Given the description of an element on the screen output the (x, y) to click on. 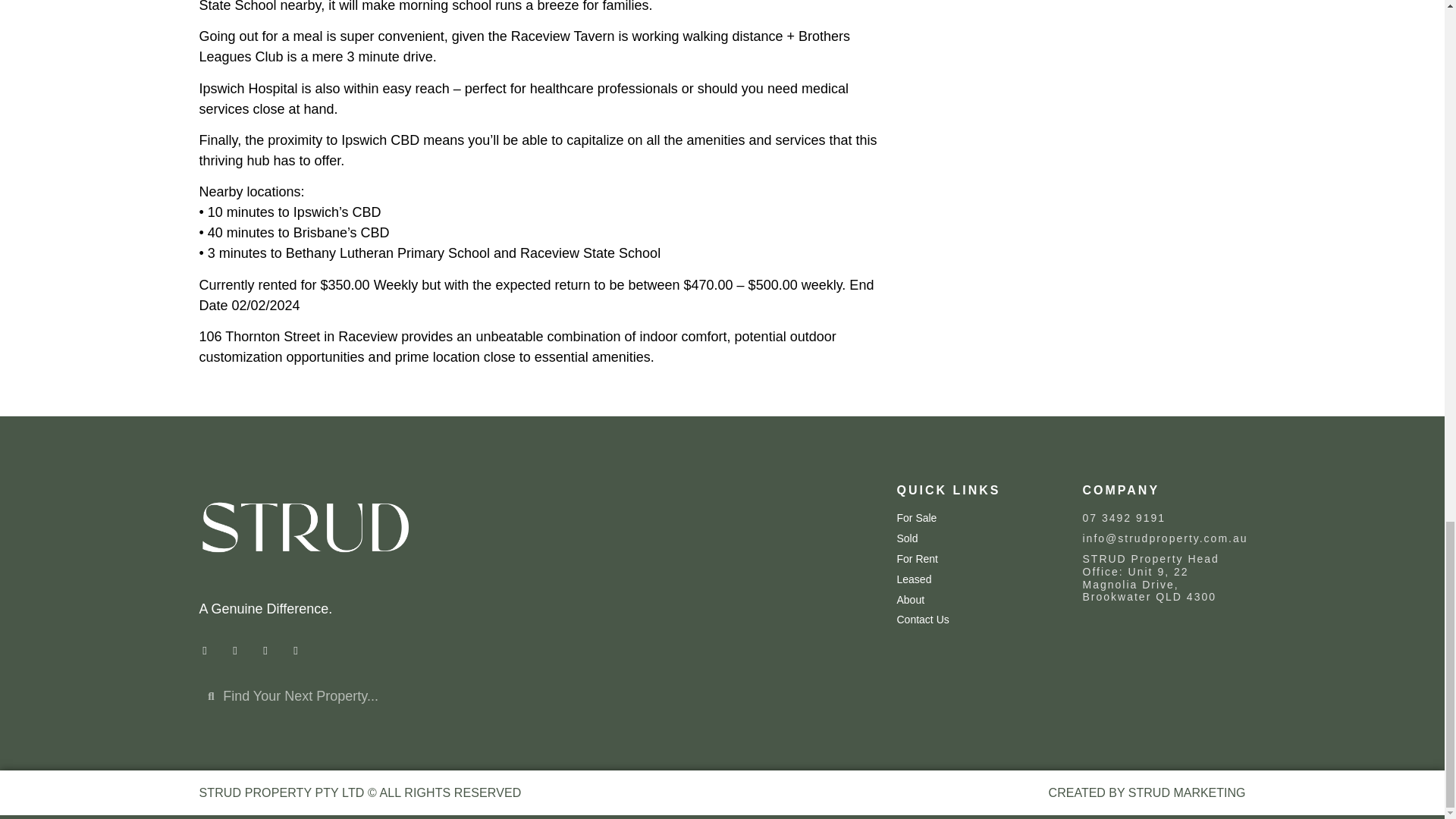
For Rent (973, 558)
For Sale (973, 517)
Sold (973, 538)
